Given the description of an element on the screen output the (x, y) to click on. 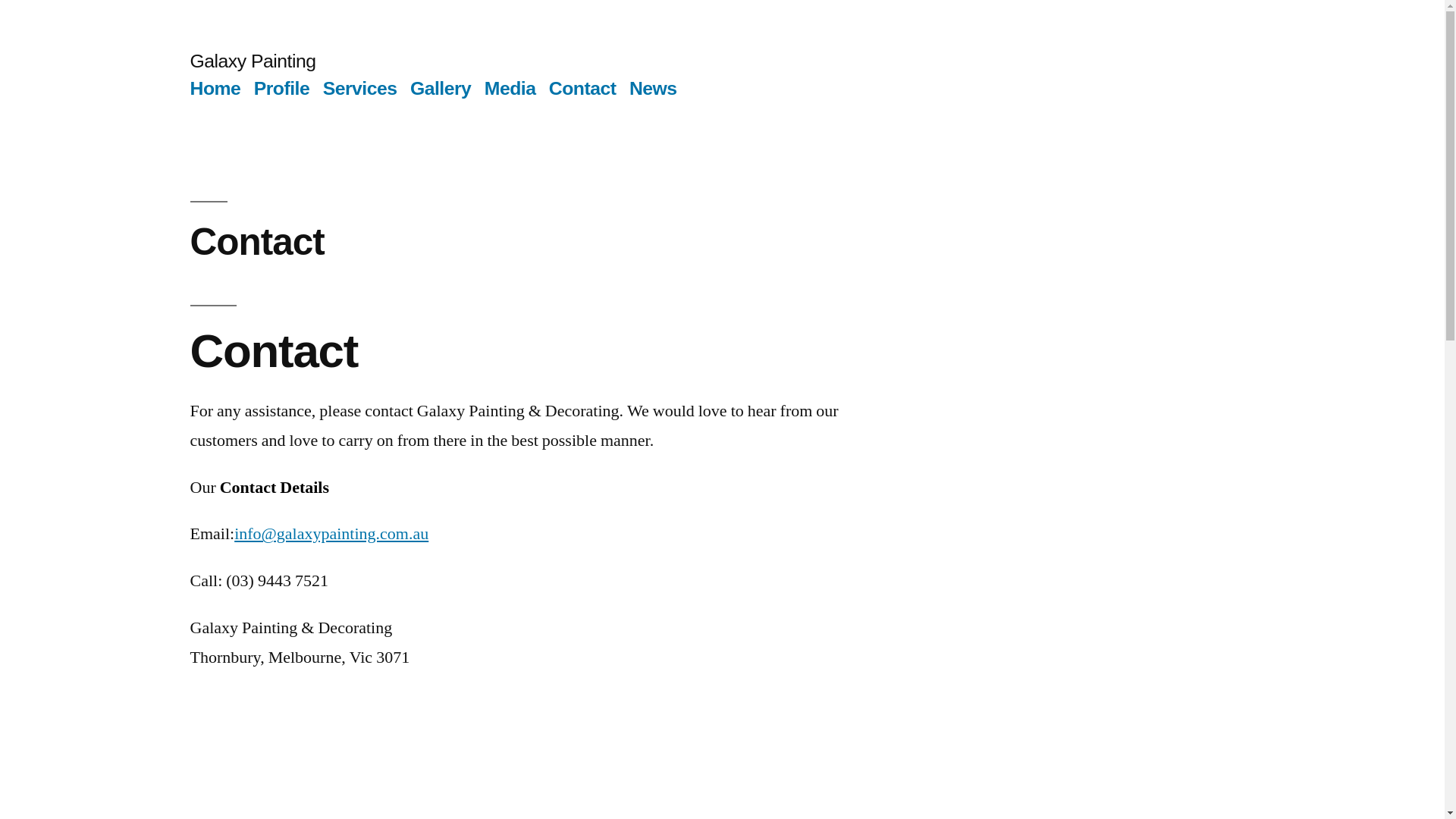
Profile Element type: text (282, 88)
Gallery Element type: text (440, 88)
info@galaxypainting.com.au Element type: text (331, 533)
Services Element type: text (360, 88)
Galaxy Painting Element type: text (252, 60)
Home Element type: text (214, 88)
News Element type: text (653, 88)
Contact Element type: text (582, 88)
Media Element type: text (510, 88)
